Given the description of an element on the screen output the (x, y) to click on. 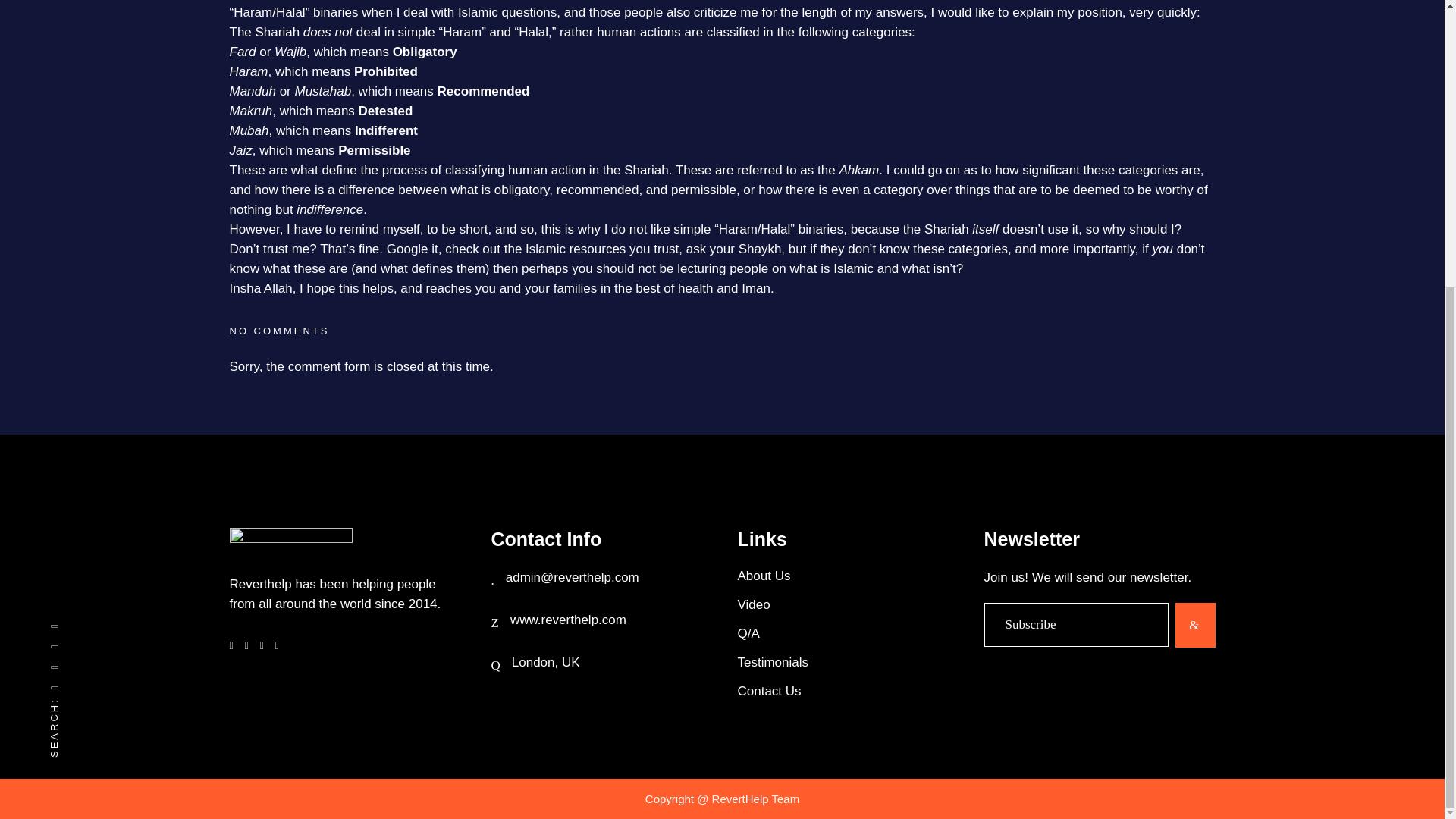
Testimonials (849, 662)
About Us (849, 575)
Video (849, 604)
Contact Us (849, 691)
